Given the description of an element on the screen output the (x, y) to click on. 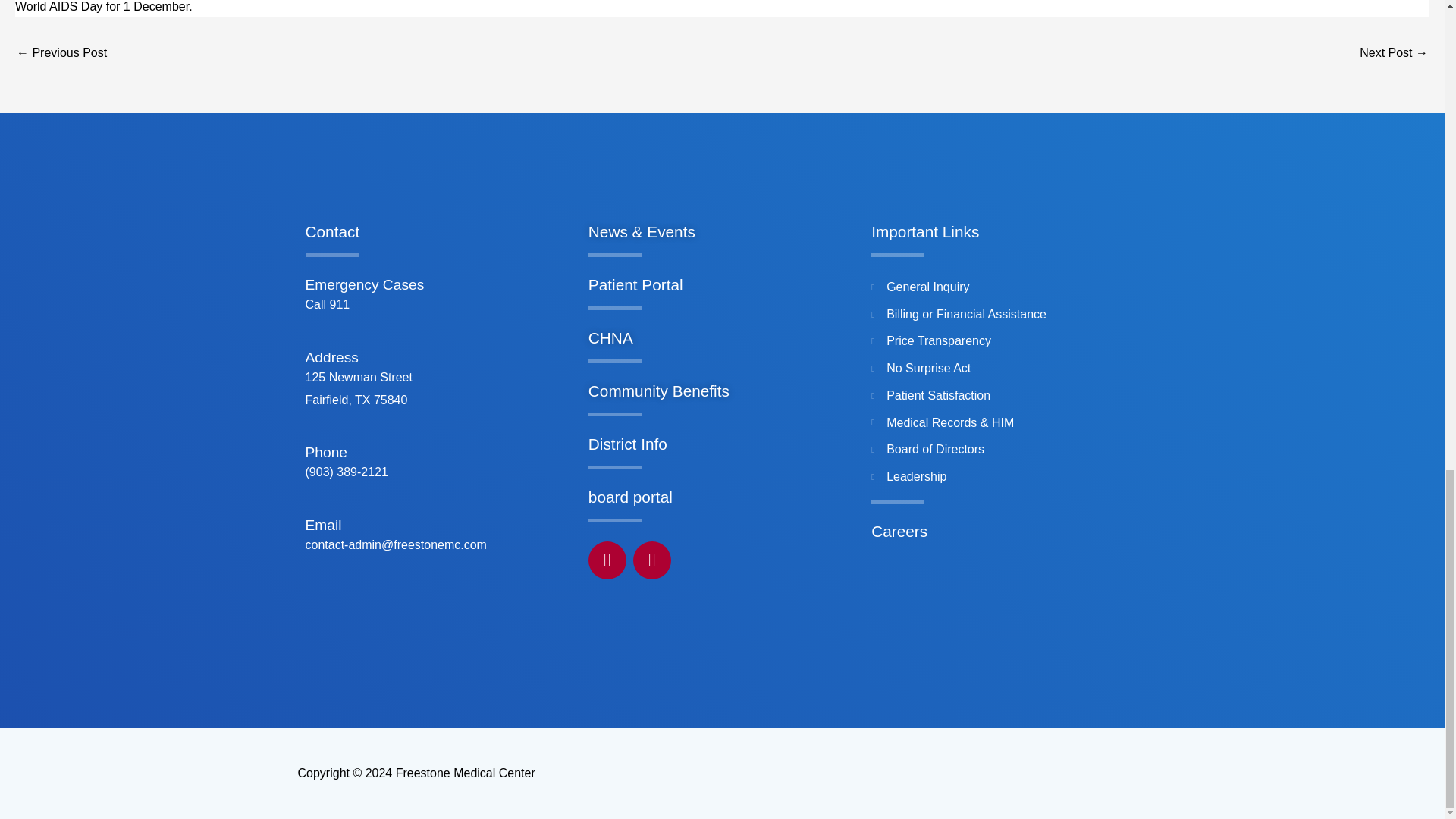
Diabetes Awareness (61, 52)
Cervical Health Awareness in January (1393, 52)
